Given the description of an element on the screen output the (x, y) to click on. 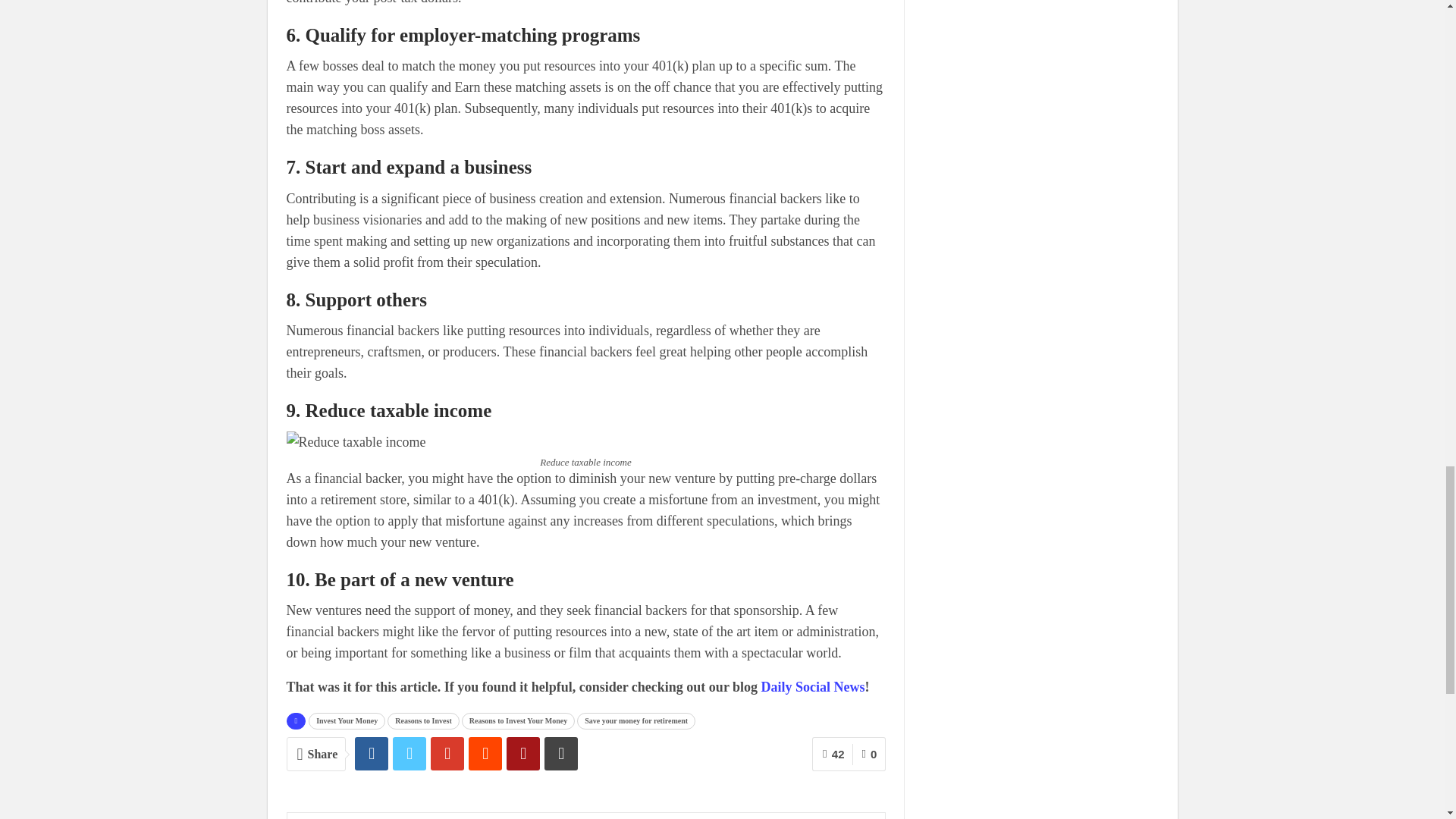
0 (868, 754)
Reasons to Invest Your Money (518, 720)
Reasons to Invest (422, 720)
Save your money for retirement (635, 720)
Daily Social News (812, 686)
Invest Your Money (346, 720)
